Given the description of an element on the screen output the (x, y) to click on. 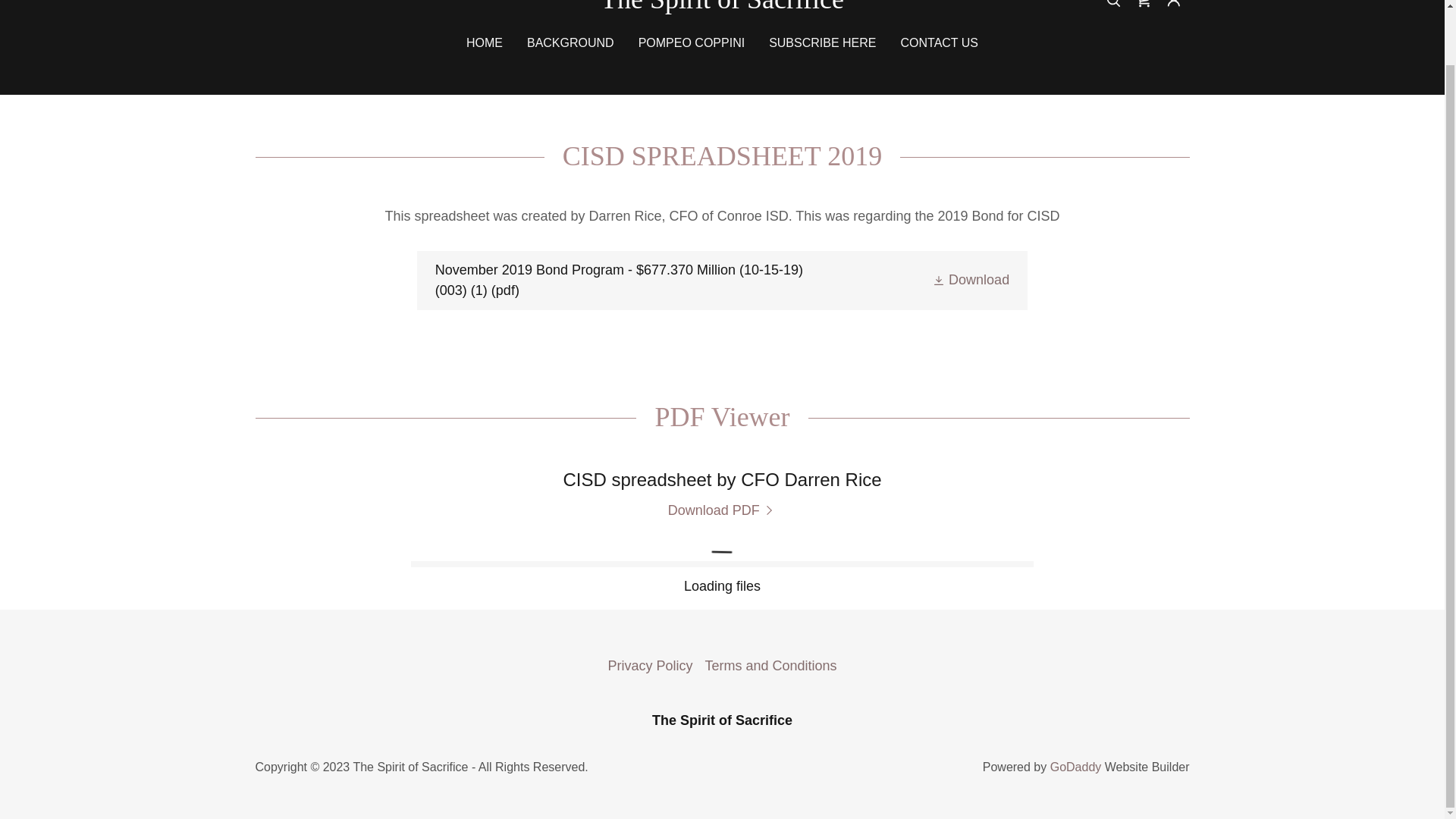
CONTACT US (940, 42)
GoDaddy (1075, 766)
Terms and Conditions (770, 665)
The Spirit of Sacrifice (721, 5)
The Spirit of Sacrifice (721, 5)
SUBSCRIBE HERE (822, 42)
POMPEO COPPINI (691, 42)
BACKGROUND (570, 42)
HOME (483, 42)
Privacy Policy (649, 665)
Download PDF (722, 510)
